Given the description of an element on the screen output the (x, y) to click on. 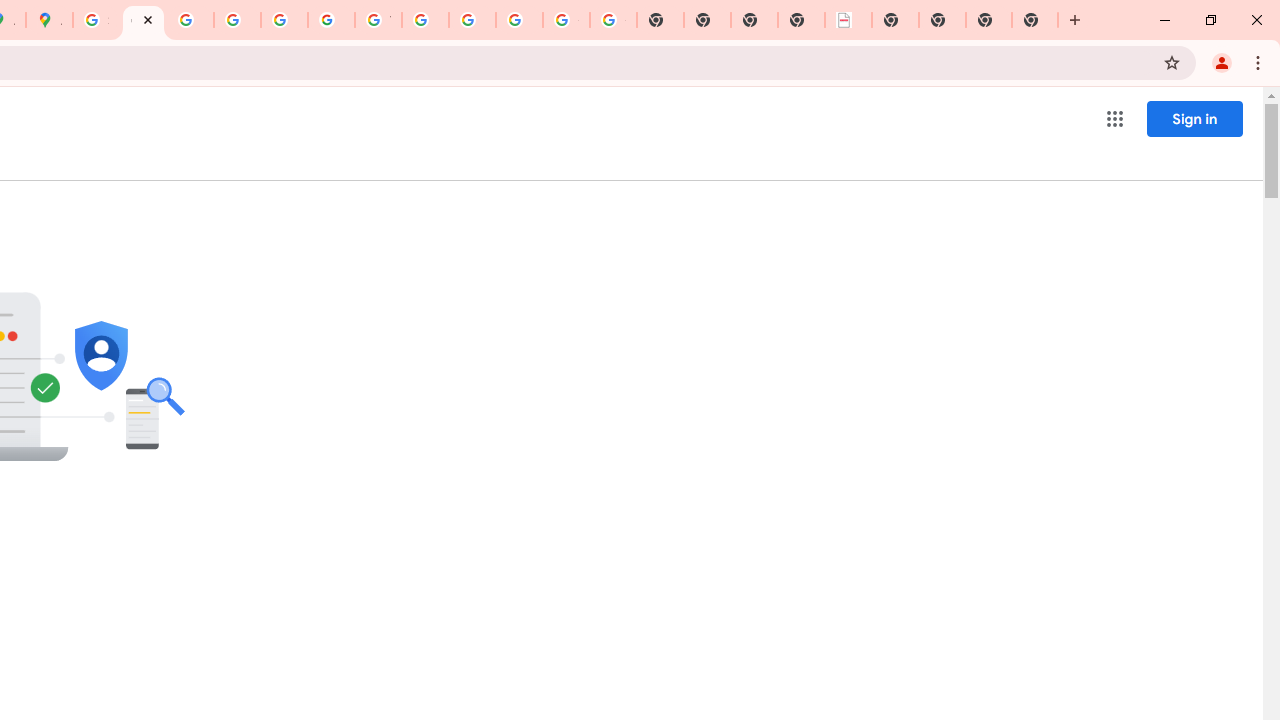
New Tab (1035, 20)
Privacy Help Center - Policies Help (189, 20)
YouTube (377, 20)
Privacy Help Center - Policies Help (237, 20)
